Given the description of an element on the screen output the (x, y) to click on. 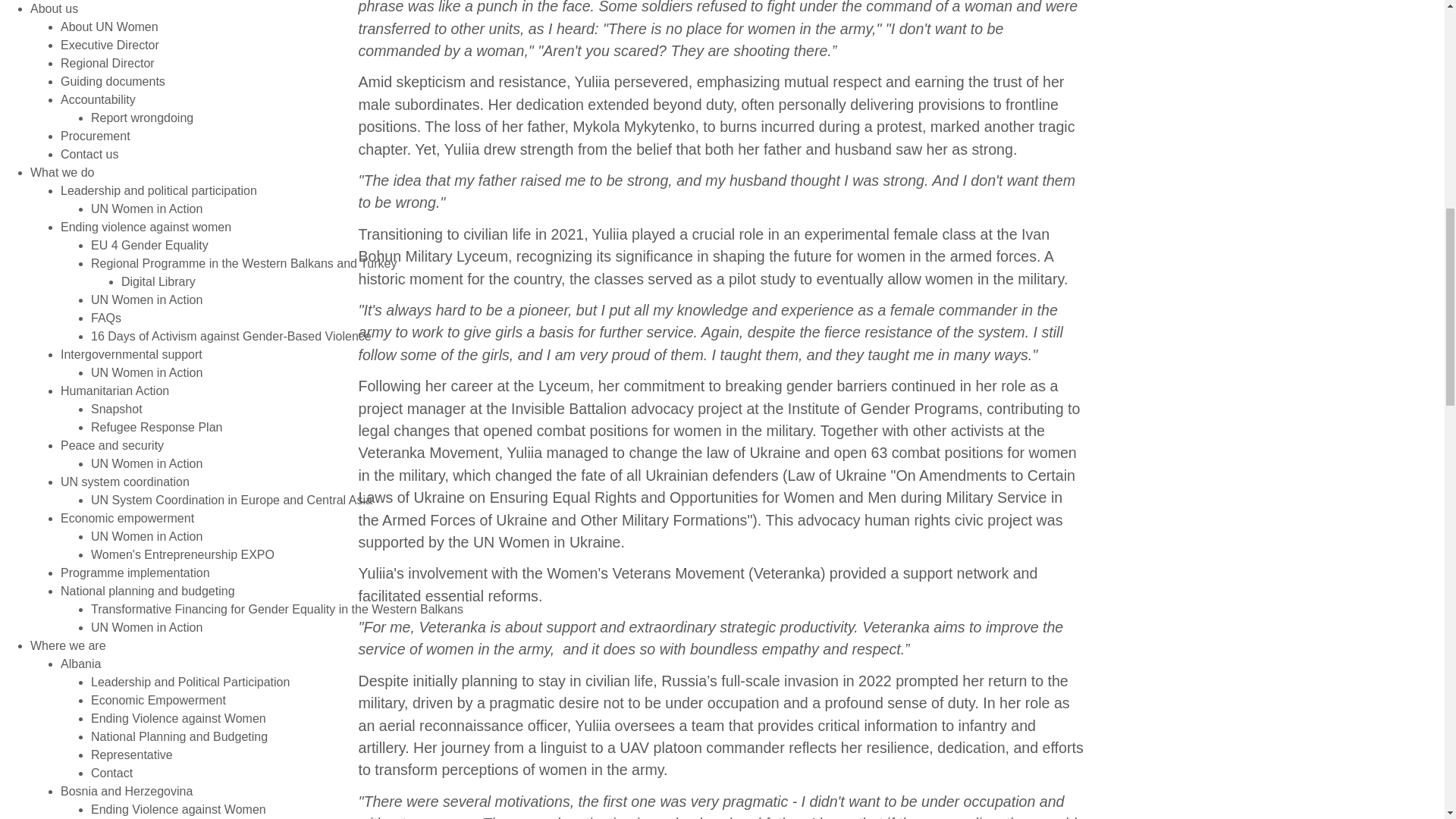
Programme implementation (135, 572)
